Given the description of an element on the screen output the (x, y) to click on. 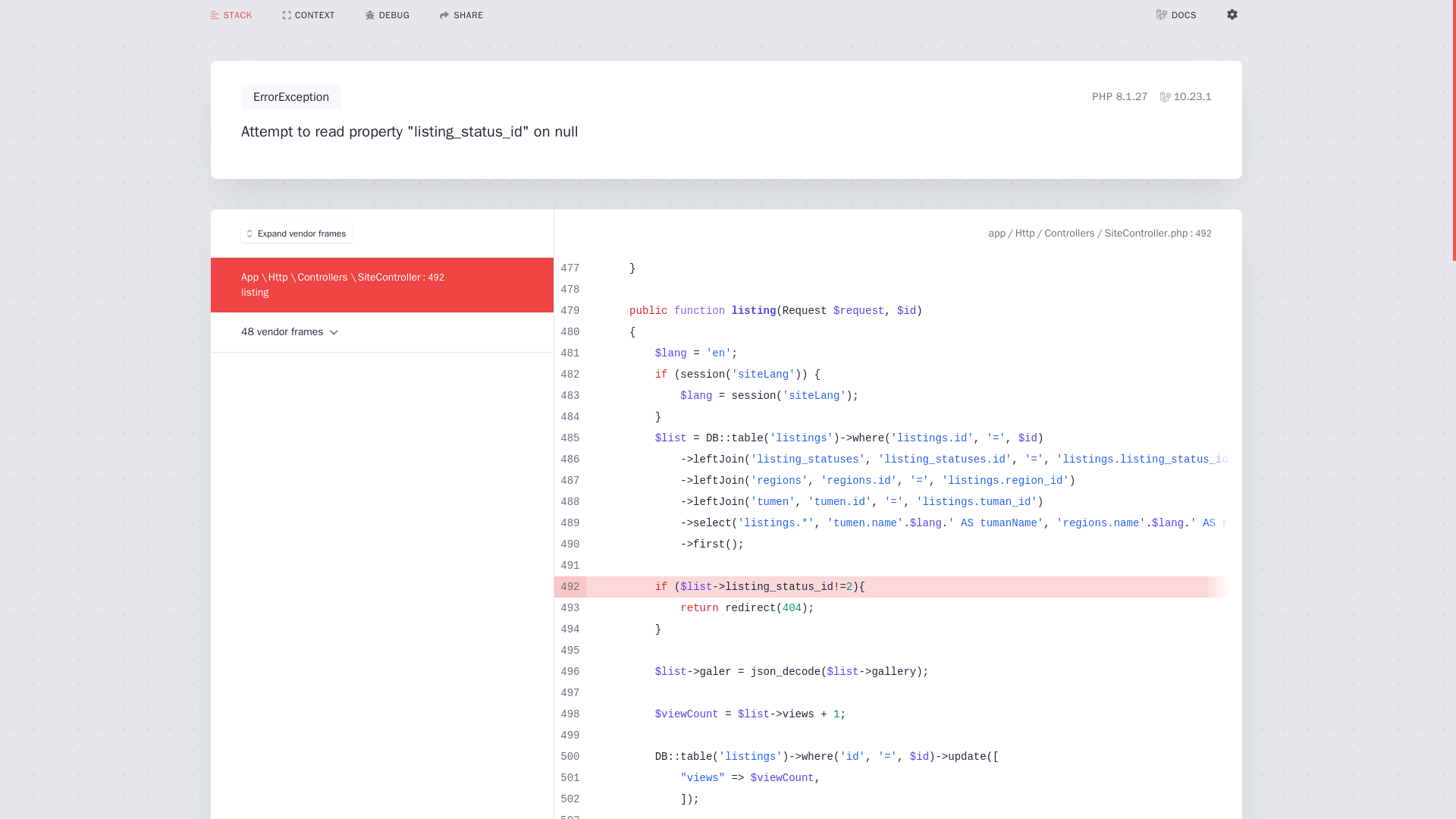
Expand vendor frames (296, 232)
STACK (231, 14)
SHARE (461, 15)
CONTEXT (308, 14)
STACK (231, 15)
CONTEXT (308, 15)
DOCS (1176, 14)
DEBUG (387, 15)
SHARE (461, 14)
DEBUG (387, 14)
DOCS (1176, 15)
